Given the description of an element on the screen output the (x, y) to click on. 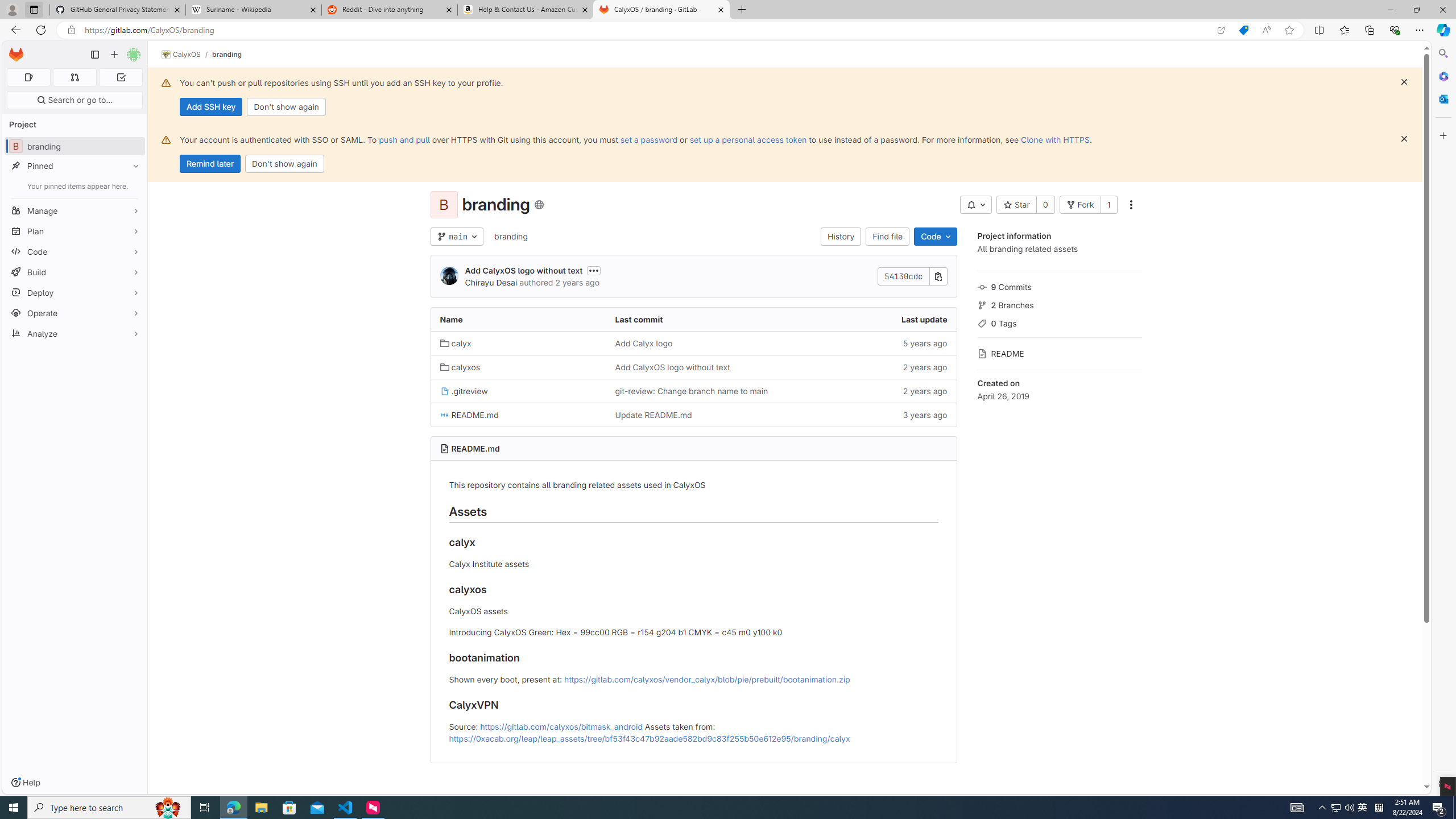
Chirayu Desai's avatar (448, 275)
Build (74, 271)
Chirayu Desai (490, 282)
Dismiss (1403, 138)
calyx (517, 342)
Assigned issues 0 (28, 76)
Merge requests 0 (74, 76)
Add CalyxOS logo without text (672, 367)
calyxos (459, 367)
Update README.md (693, 414)
Copy commit SHA (937, 275)
2 Branches (1058, 304)
